Given the description of an element on the screen output the (x, y) to click on. 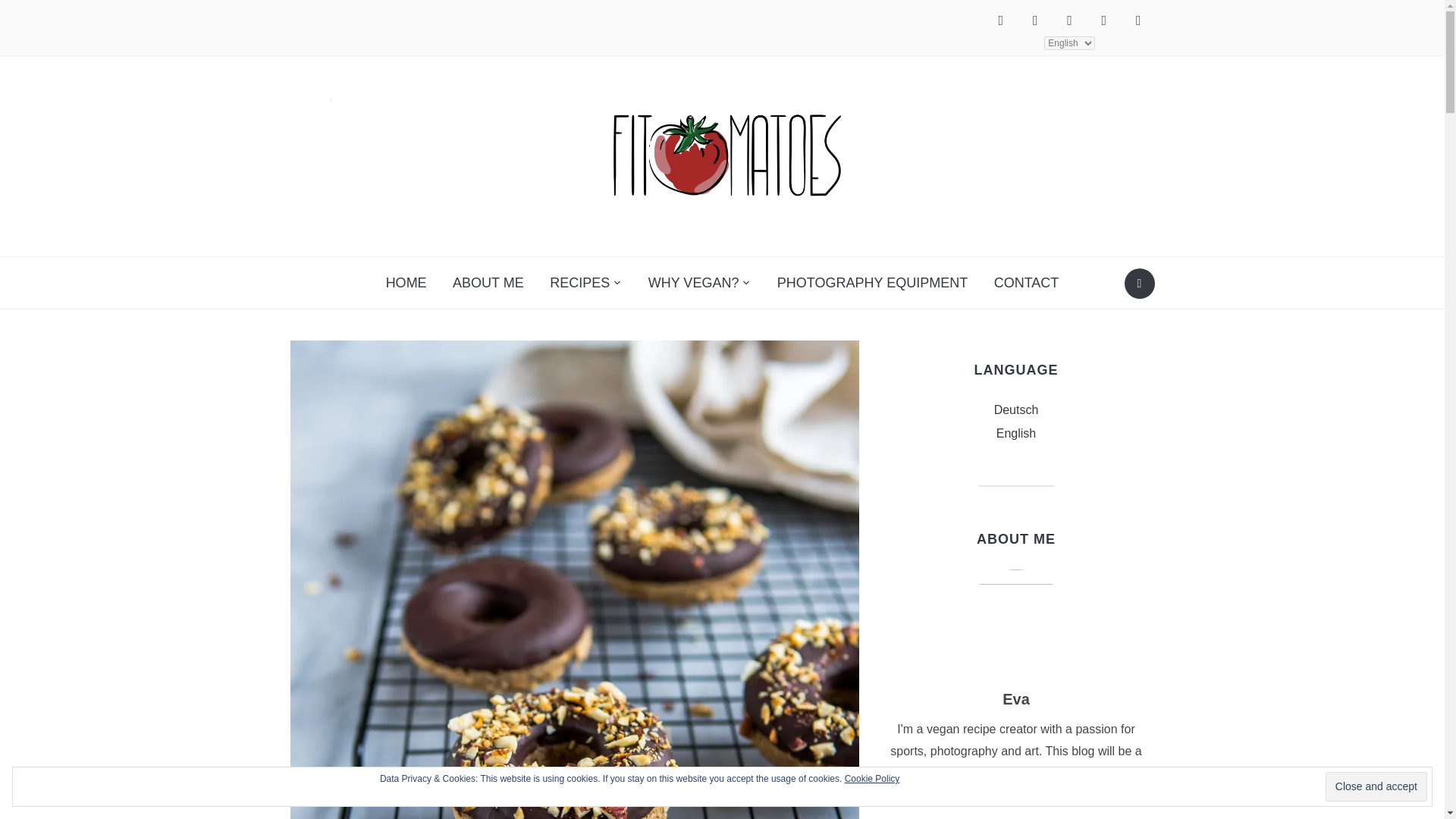
mail (1103, 19)
Default Label (1138, 19)
facebook (1000, 19)
Close and accept (1375, 786)
instagram (1035, 19)
youtube (1138, 19)
Friend me on Facebook (1000, 19)
pinterest (1070, 19)
